Given the description of an element on the screen output the (x, y) to click on. 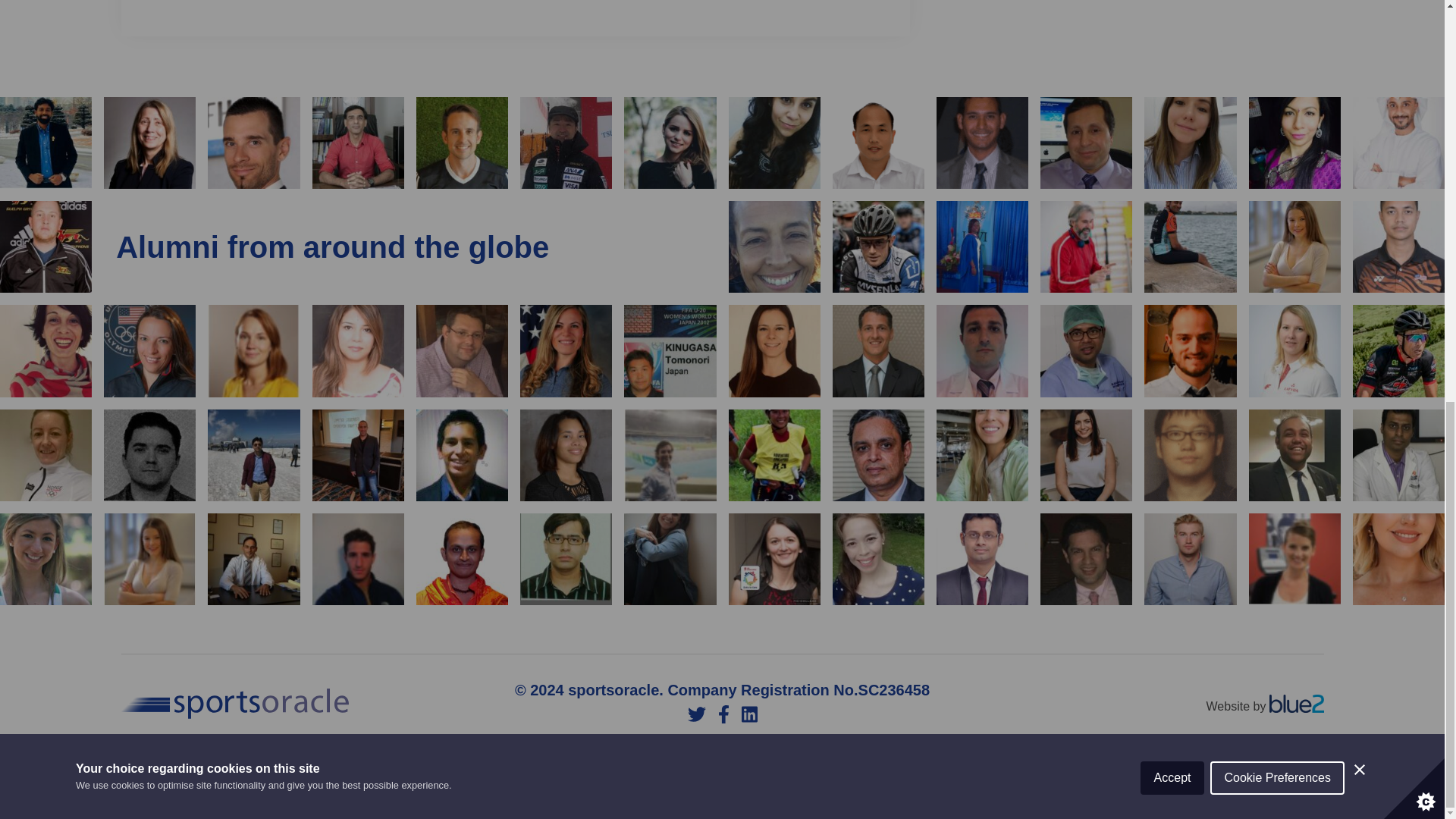
Cookie Policy (721, 777)
Privacy Policy (606, 777)
Accept (1172, 20)
Contact (966, 777)
Cookie Preferences (1276, 13)
Support Staff (494, 777)
Blue2 Digital Web Design (1296, 703)
